Given the description of an element on the screen output the (x, y) to click on. 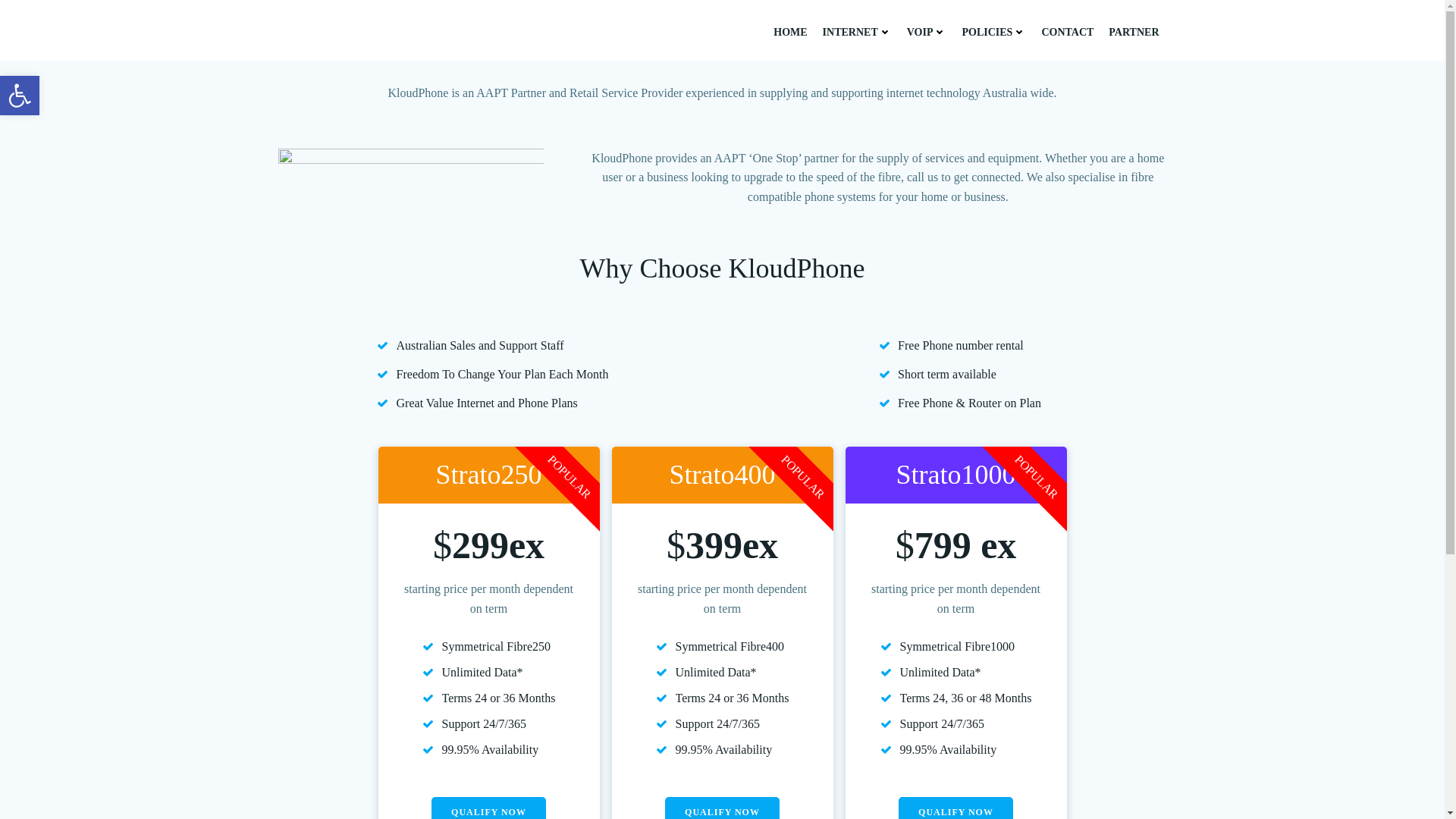
Accessibility Tools (19, 95)
QUALIFY NOW (955, 807)
QUALIFY NOW (721, 807)
HOME (789, 32)
CONTACT (1067, 32)
INTERNET (856, 32)
VOIP (927, 32)
PARTNER (1133, 32)
Accessibility Tools (19, 95)
POLICIES (993, 32)
QUALIFY NOW (19, 95)
